Given the description of an element on the screen output the (x, y) to click on. 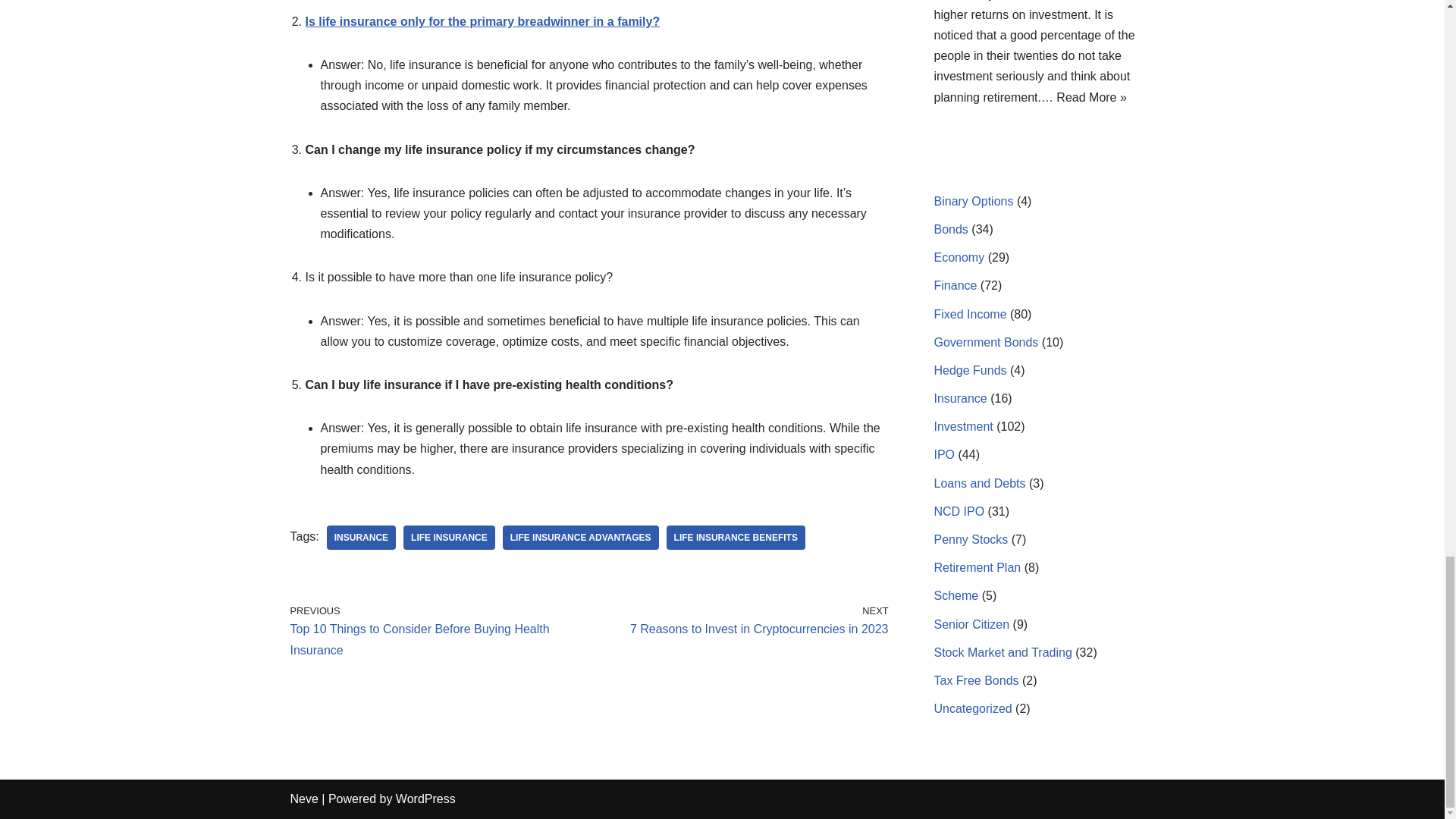
LIFE INSURANCE ADVANTAGES (742, 620)
LIFE INSURANCE (580, 537)
Life Insurance (449, 537)
Life Insurance Benefits (449, 537)
Insurance (735, 537)
INSURANCE (361, 537)
Life Insurance Advantages (361, 537)
